Given the description of an element on the screen output the (x, y) to click on. 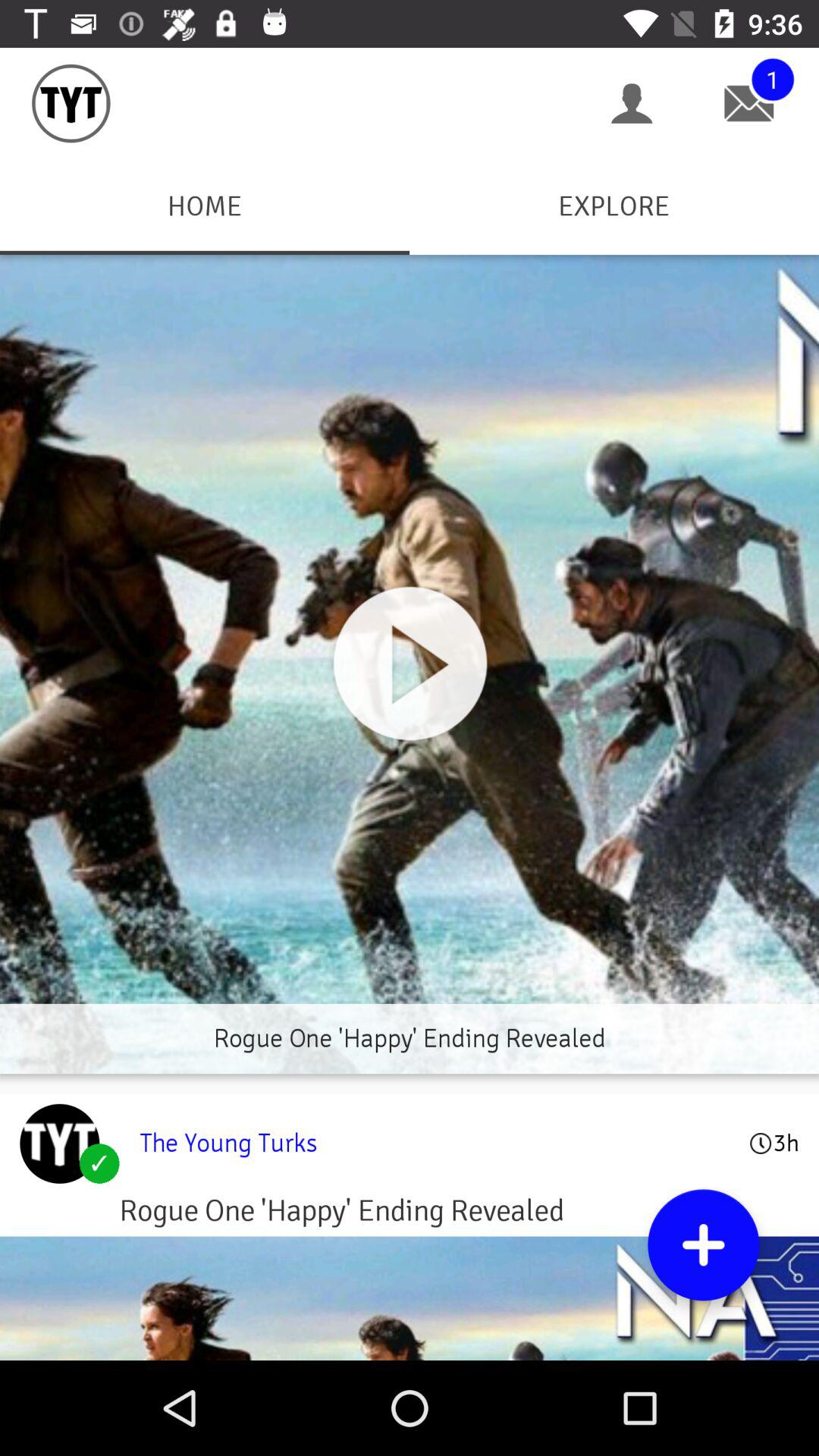
jump until the young turks item (434, 1143)
